Given the description of an element on the screen output the (x, y) to click on. 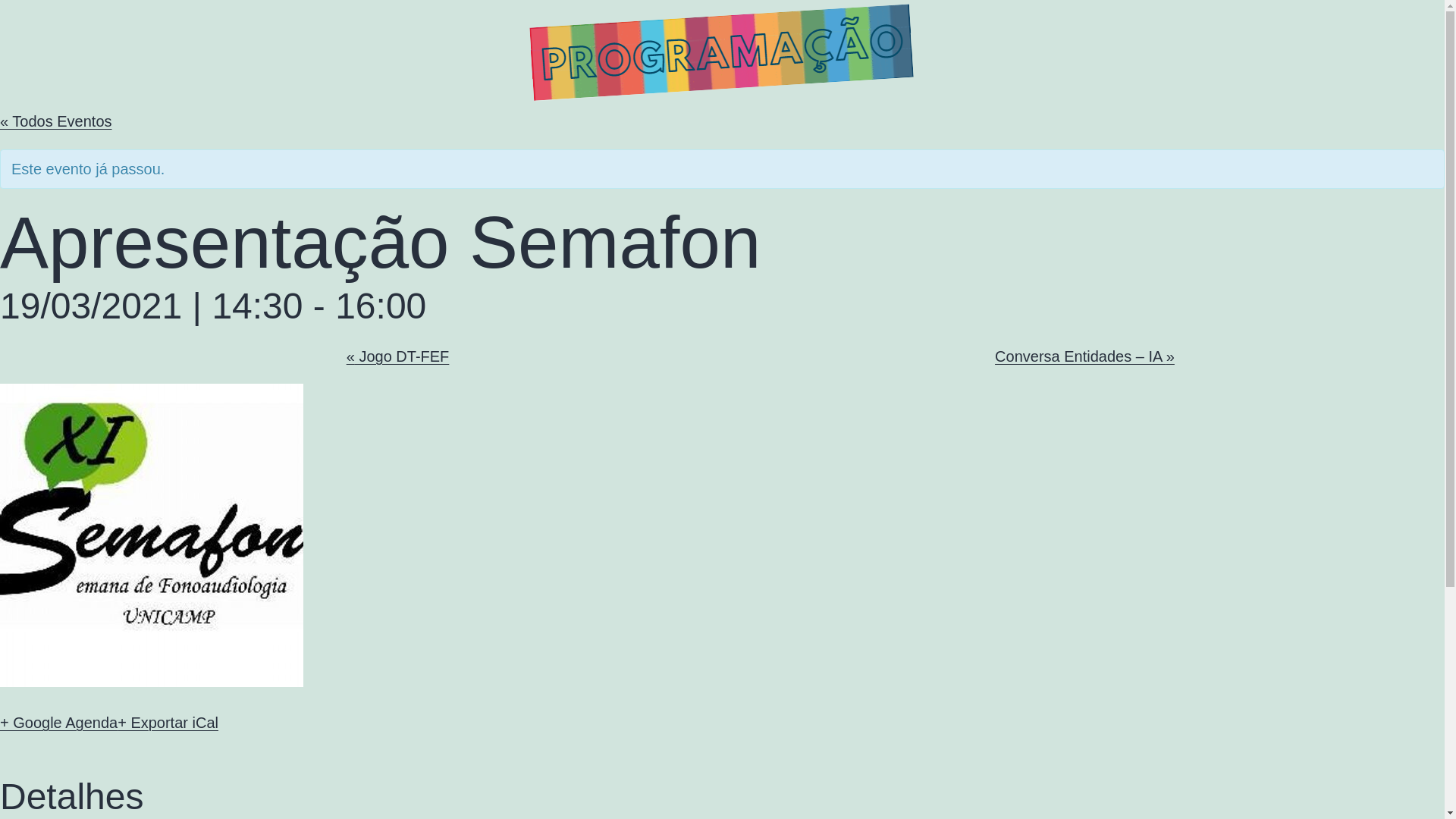
+ Exportar iCal Element type: text (167, 722)
+ Google Agenda Element type: text (58, 722)
